Given the description of an element on the screen output the (x, y) to click on. 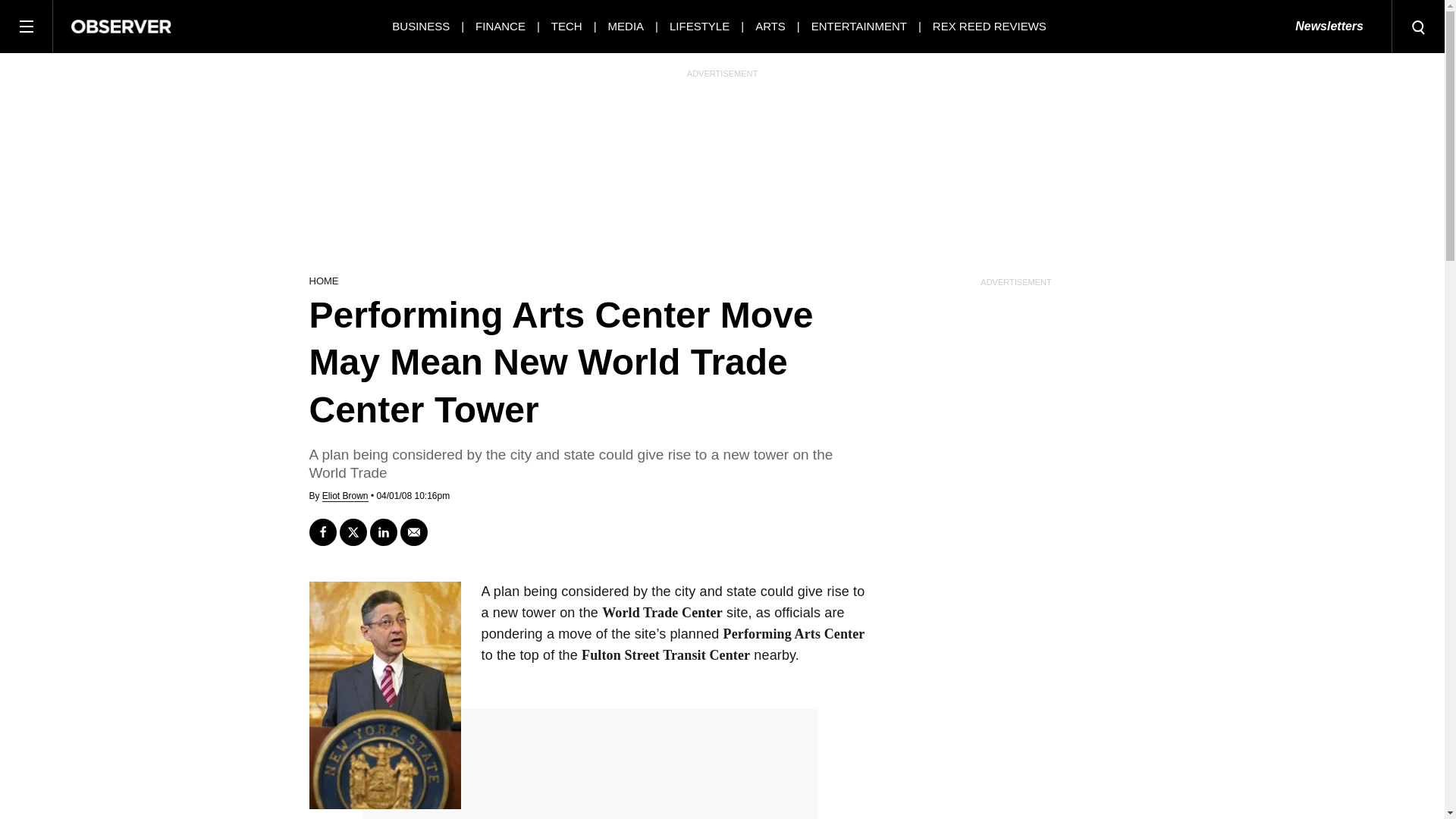
Send email (414, 532)
ENTERTAINMENT (858, 25)
LIFESTYLE (699, 25)
MEDIA (626, 25)
Observer (121, 26)
Newsletters (1329, 26)
TECH (566, 25)
View All Posts by Eliot Brown (344, 496)
Tweet (352, 532)
BUSINESS (420, 25)
REX REED REVIEWS (989, 25)
Share on LinkedIn (383, 532)
ARTS (770, 25)
Share on Facebook (322, 532)
FINANCE (500, 25)
